Given the description of an element on the screen output the (x, y) to click on. 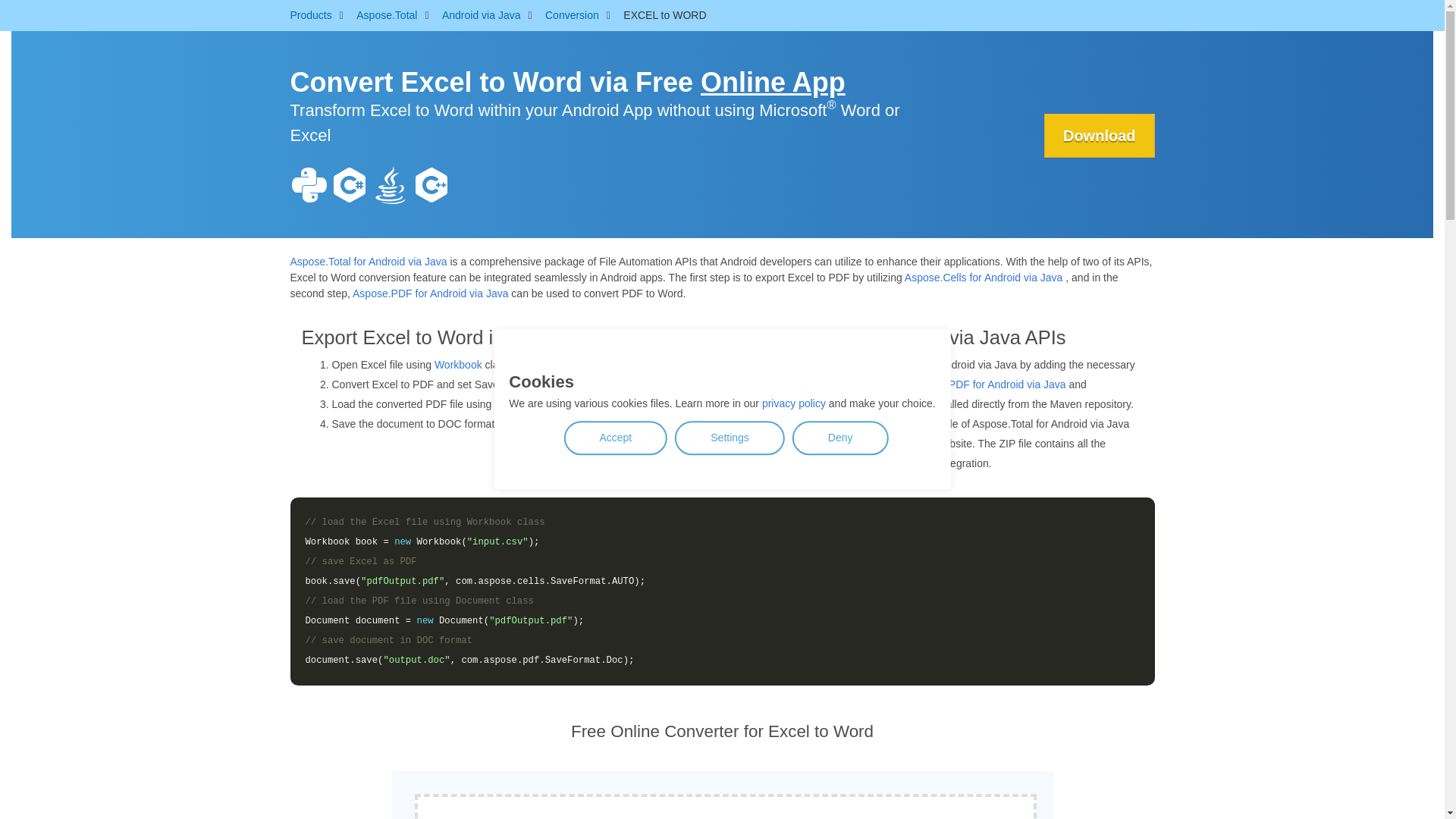
Free xlsx to docx Conversion Tool (721, 783)
Aspose.PDF for Android via Java (430, 293)
Download (1098, 135)
Aspose.Total for Android via Java (367, 261)
Aspose.Cells for Android via Java (983, 277)
Conversion (571, 15)
Aspose.Total (386, 15)
Workbook (457, 364)
Online App (772, 81)
Android via Java (481, 15)
save (536, 423)
Document (519, 404)
Products (310, 15)
